Given the description of an element on the screen output the (x, y) to click on. 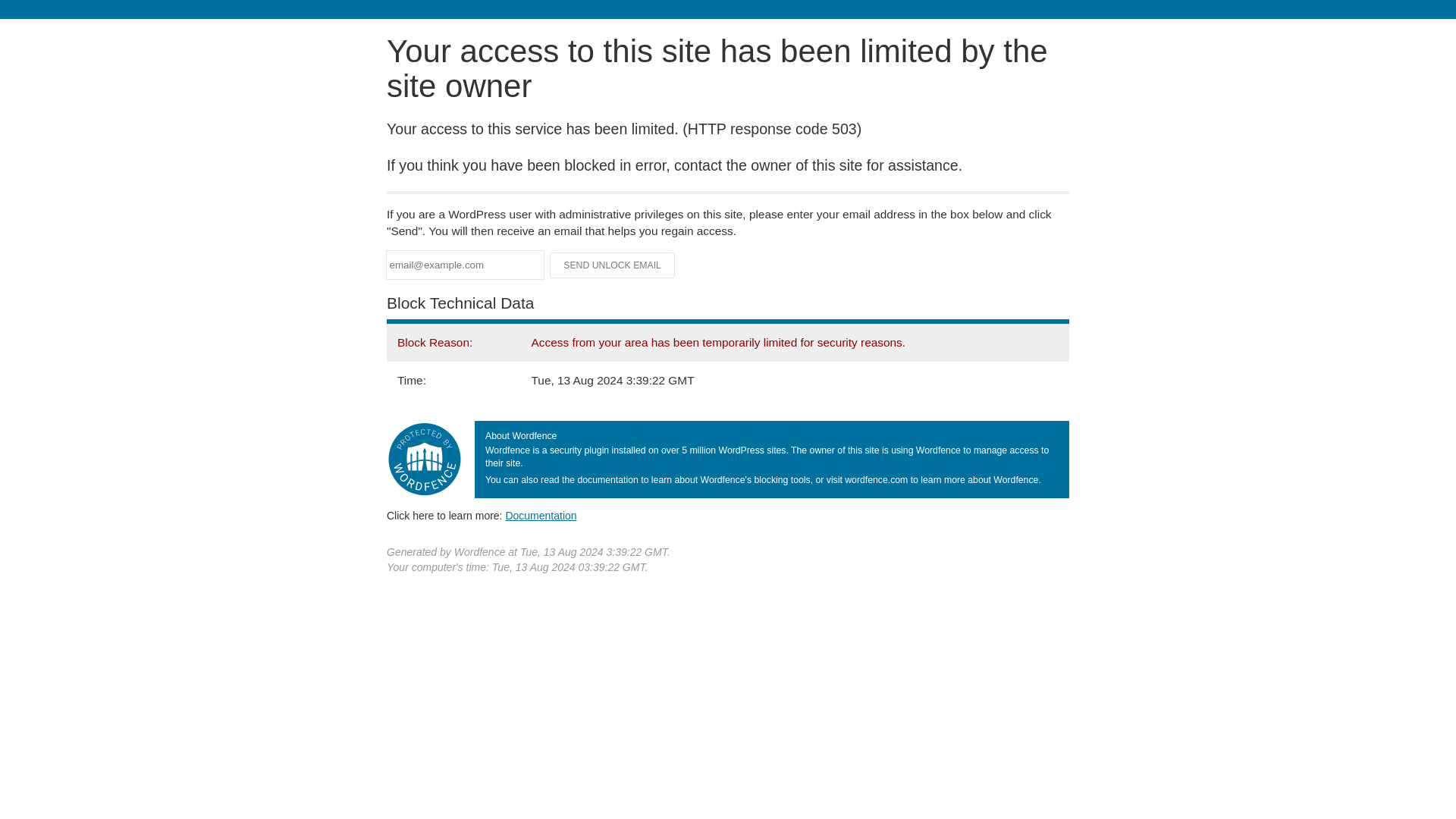
Documentation (540, 515)
Send Unlock Email (612, 265)
Send Unlock Email (612, 265)
